Given the description of an element on the screen output the (x, y) to click on. 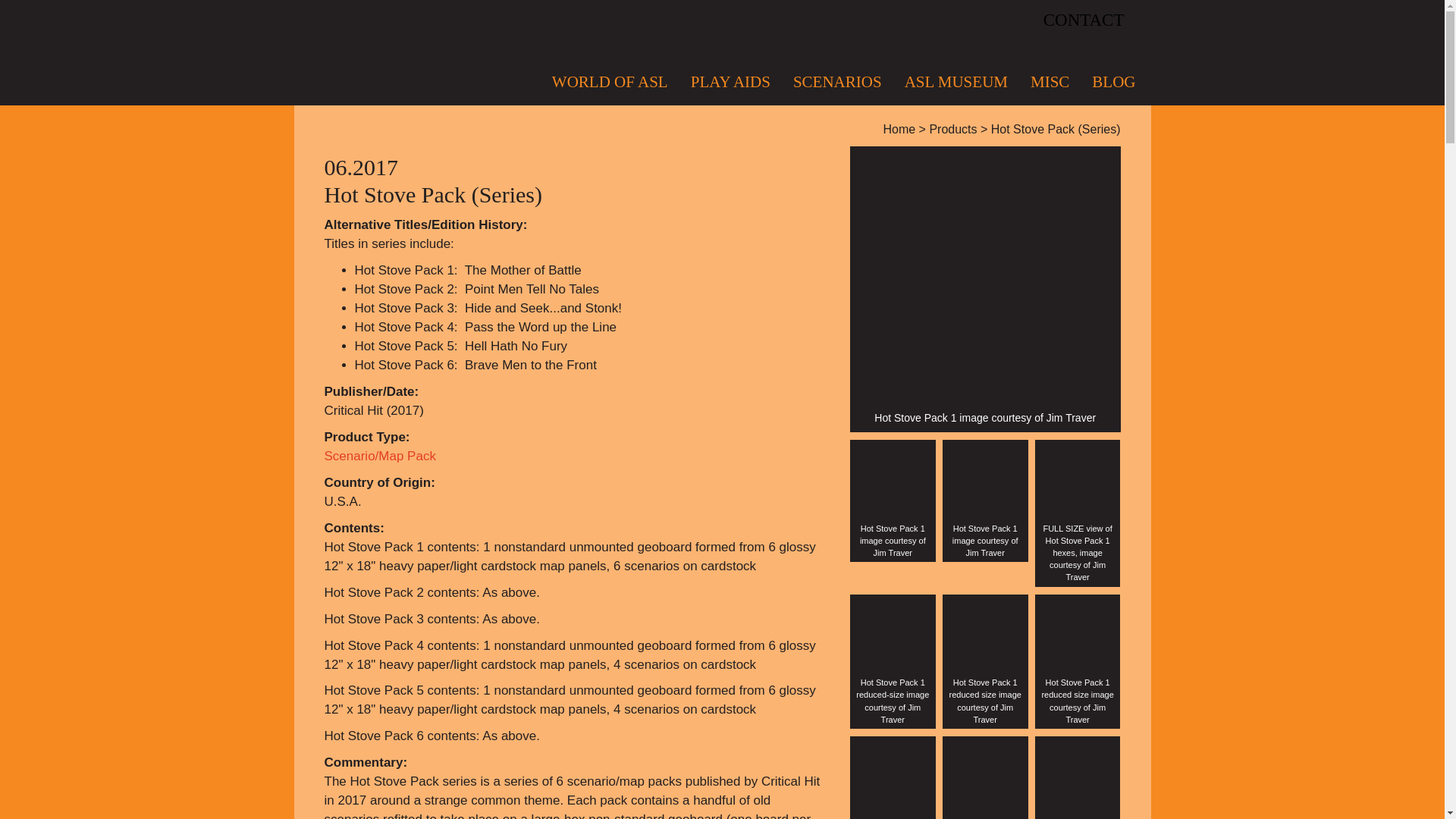
ASL MUSEUM (956, 82)
Desperation Morale (400, 52)
Products (952, 128)
MISC (1049, 82)
BLOG (1107, 82)
Hot Stove 6 Pack image courtesy of Noble Knight Games (1078, 777)
Hot Stove 5 Pack image courtesy of Noble Knight Games (984, 777)
SCENARIOS (837, 82)
Home (898, 128)
WORLD OF ASL (615, 82)
